Given the description of an element on the screen output the (x, y) to click on. 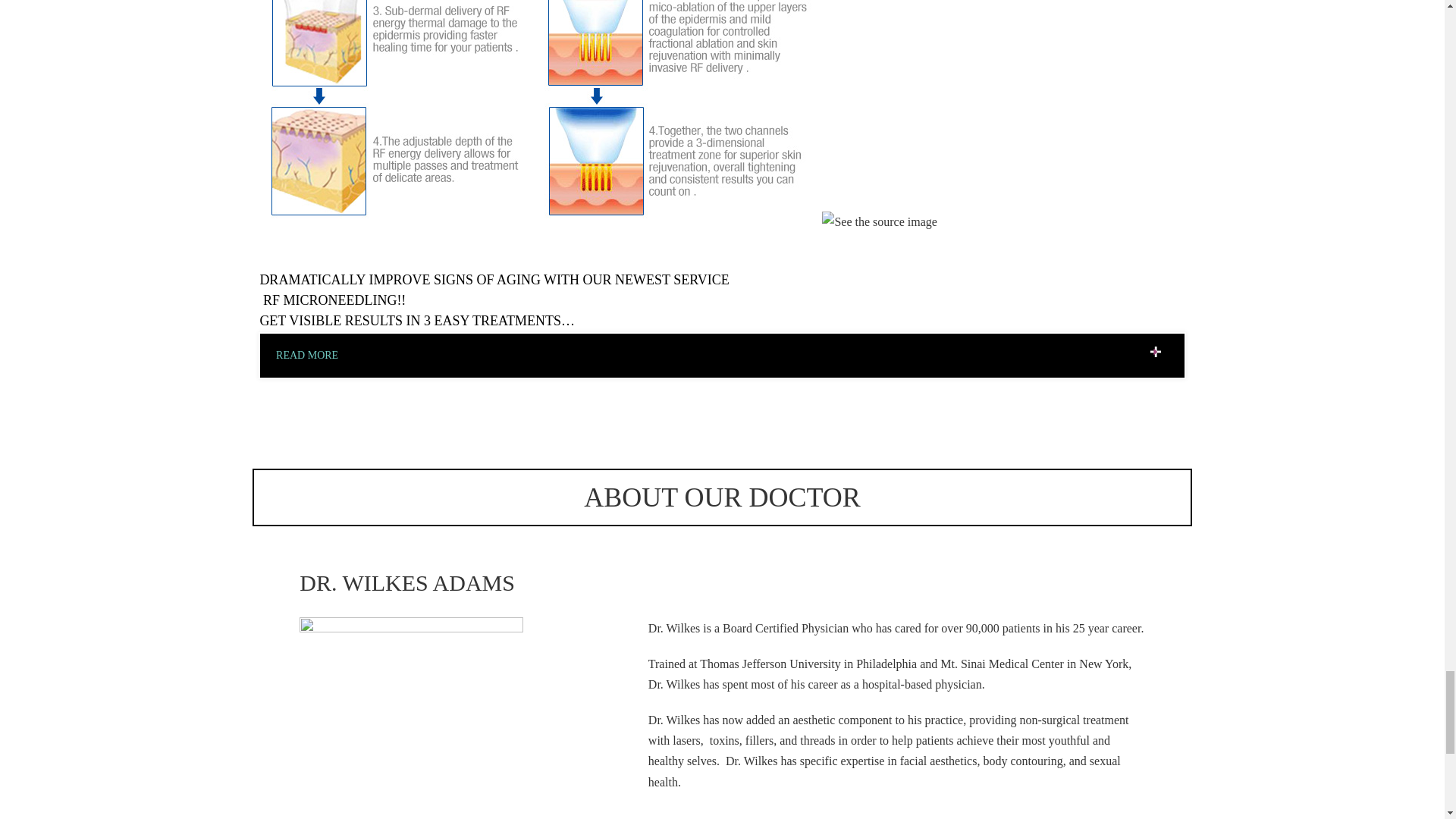
dr-adam-wilkes (410, 718)
